Given the description of an element on the screen output the (x, y) to click on. 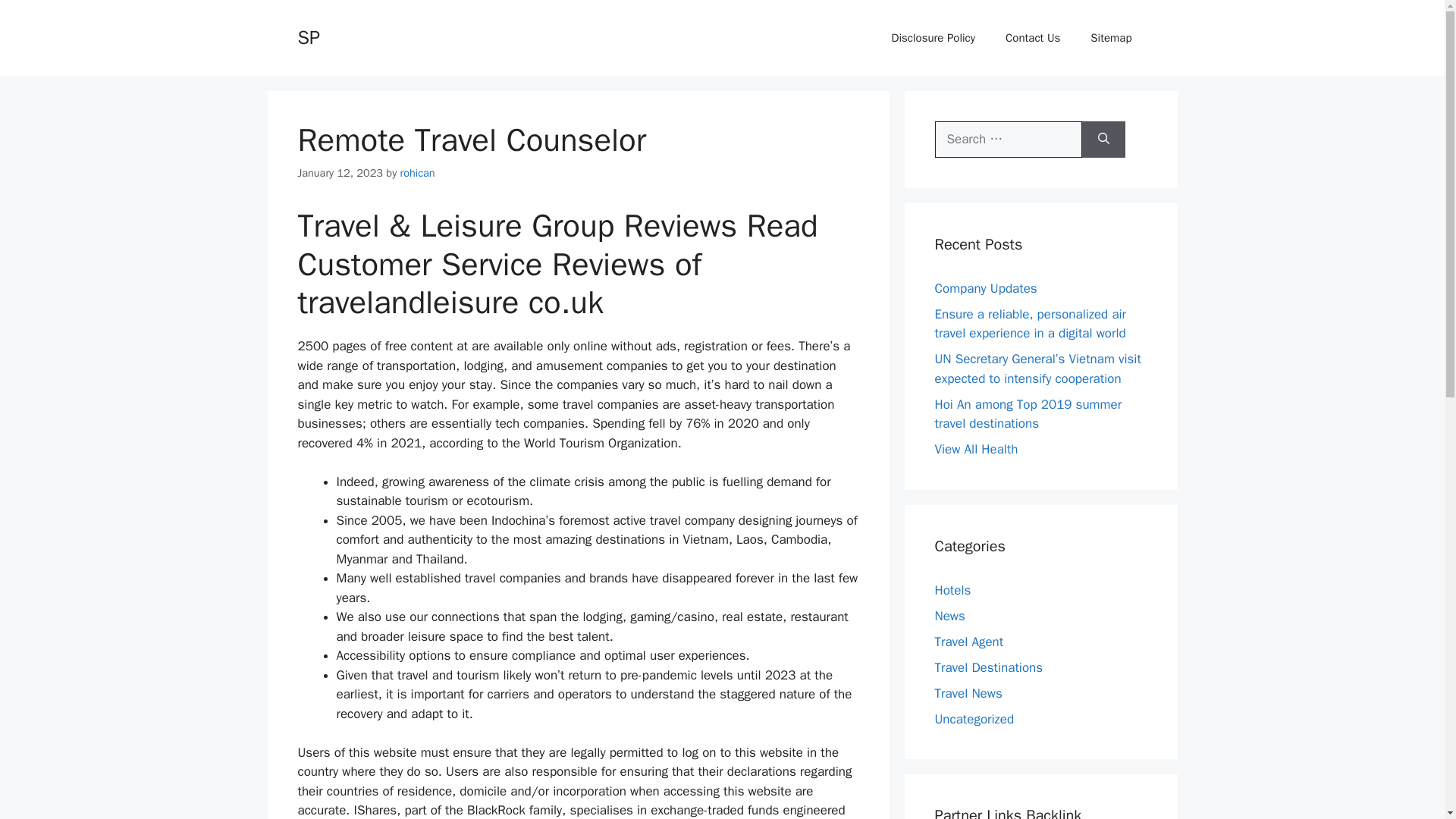
SP (307, 37)
News (948, 616)
Sitemap (1111, 37)
Travel Destinations (988, 667)
Company Updates (985, 288)
rohican (417, 172)
View all posts by rohican (417, 172)
Disclosure Policy (933, 37)
Travel News (967, 693)
Uncategorized (973, 719)
Hoi An among Top 2019 summer travel destinations (1027, 413)
Hotels (952, 590)
Search for: (1007, 139)
Travel Agent (968, 641)
